Given the description of an element on the screen output the (x, y) to click on. 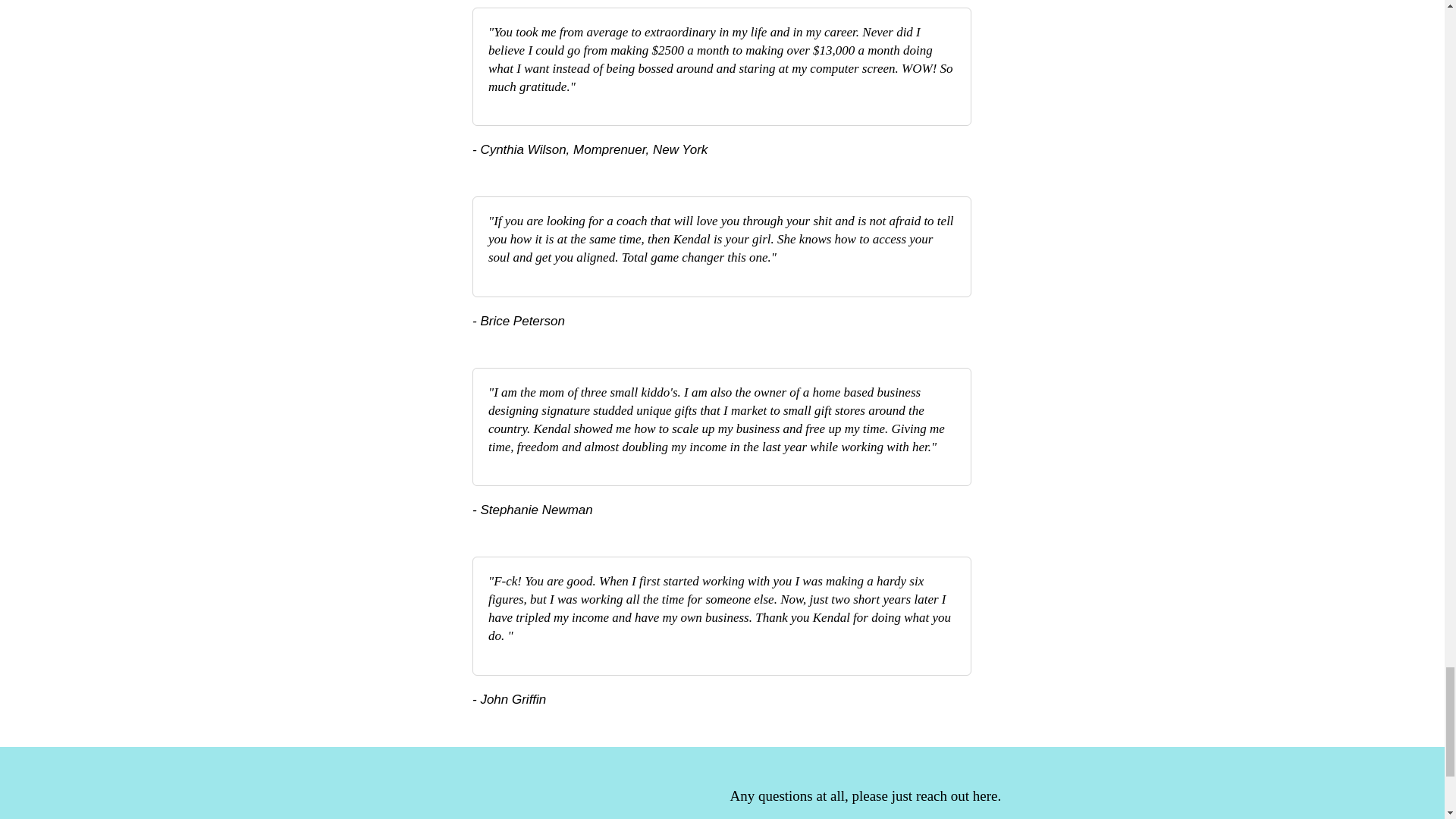
here (984, 795)
